Given the description of an element on the screen output the (x, y) to click on. 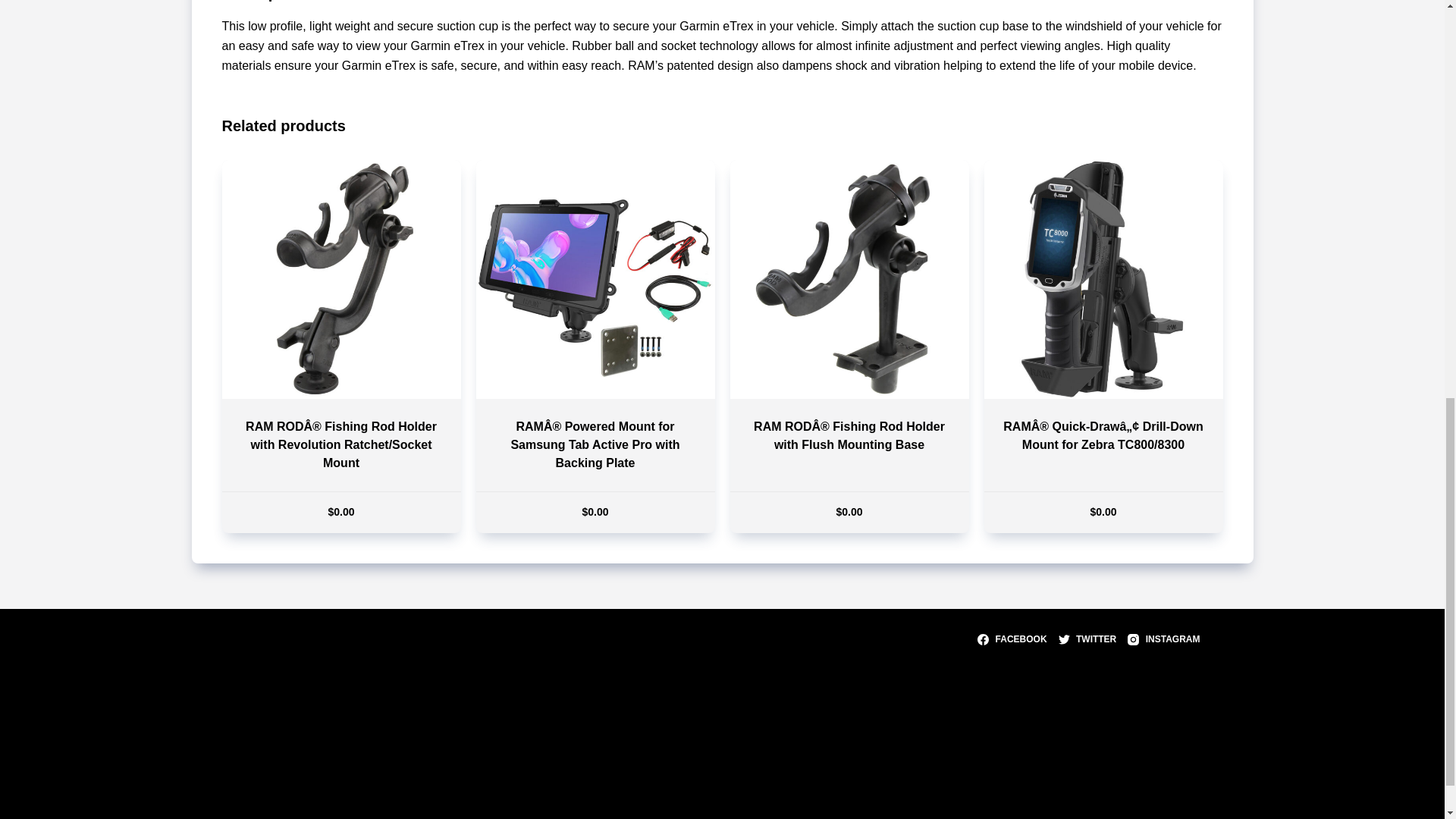
RAM-101-ZE9U (1103, 278)
RAM-114-RBU (340, 278)
RAM-101-B-SAM52P-V7B1U (595, 278)
RAM-114-FU (848, 278)
